Given the description of an element on the screen output the (x, y) to click on. 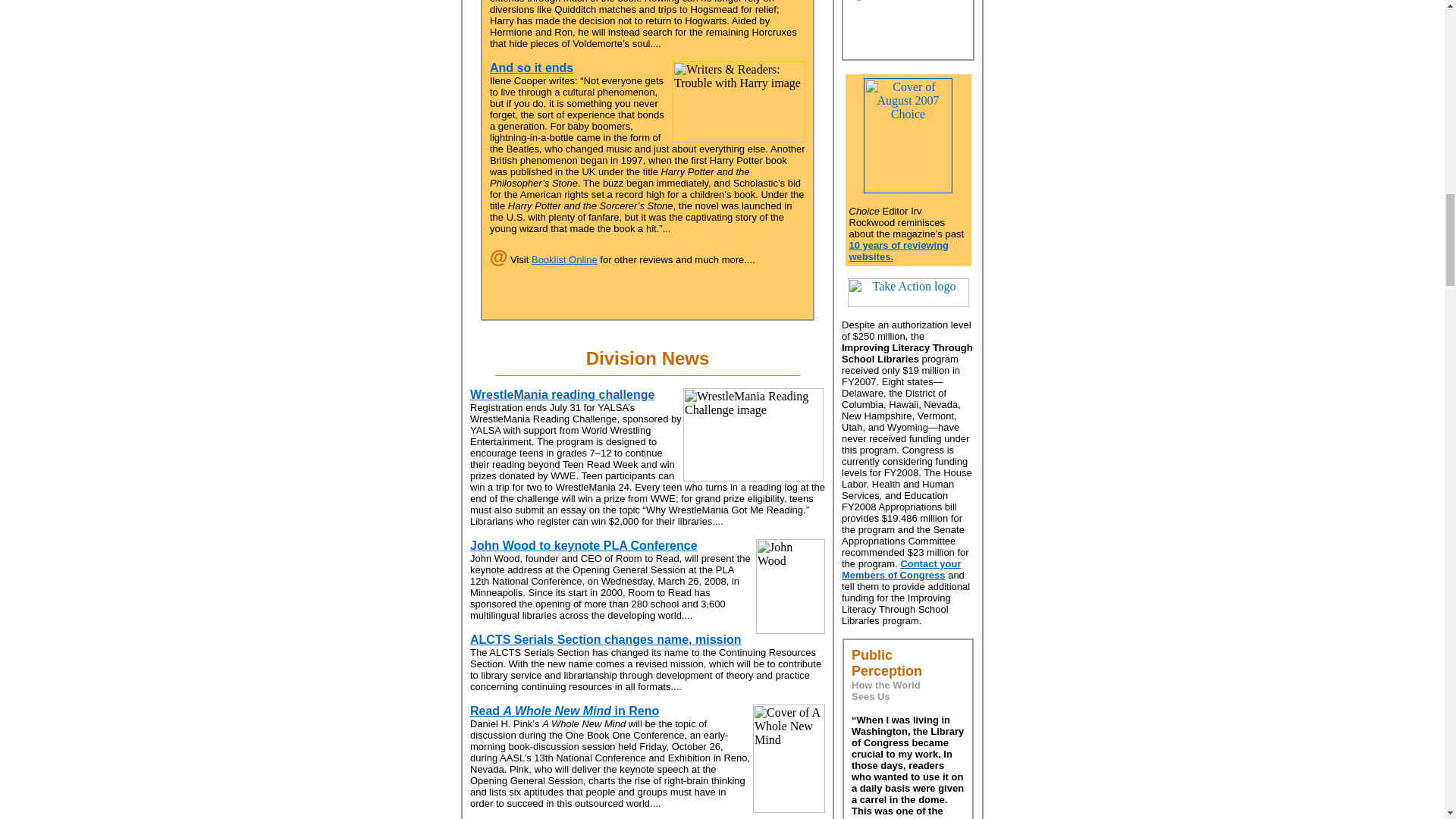
ALCTS Serials Section changes name, mission (605, 639)
Booklist Online (563, 259)
Read A Whole New Mind in Reno (564, 710)
And so it ends (531, 67)
WrestleMania reading challenge (561, 394)
John Wood to keynote PLA Conference (583, 545)
